Given the description of an element on the screen output the (x, y) to click on. 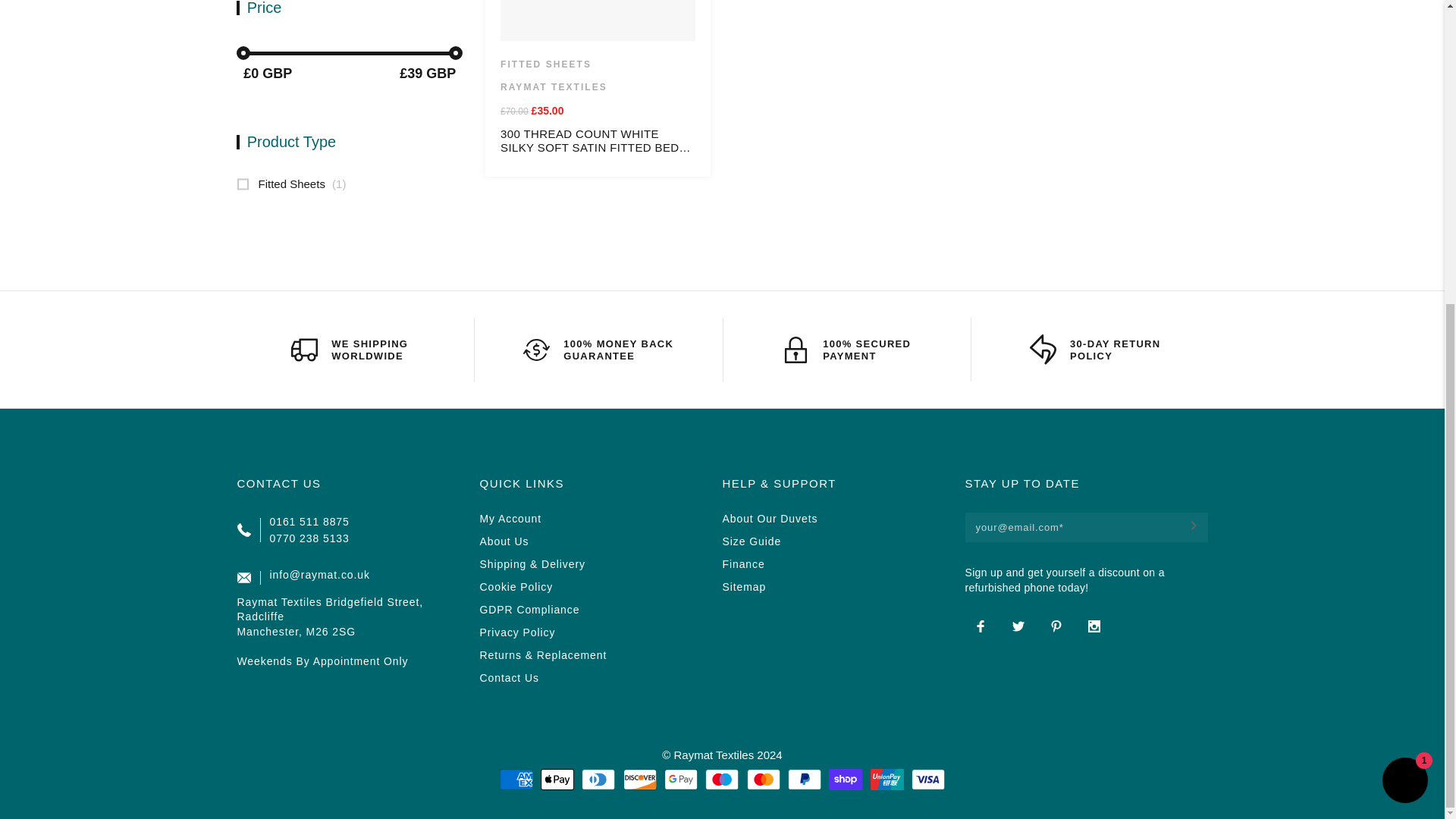
Shopify online store chat (1404, 306)
Kensingtons on Pinterest (1055, 625)
Kensingtons on Twitter (1017, 625)
Kensingtons on Instagram (1093, 625)
Kensingtons on Facebook (978, 625)
